Given the description of an element on the screen output the (x, y) to click on. 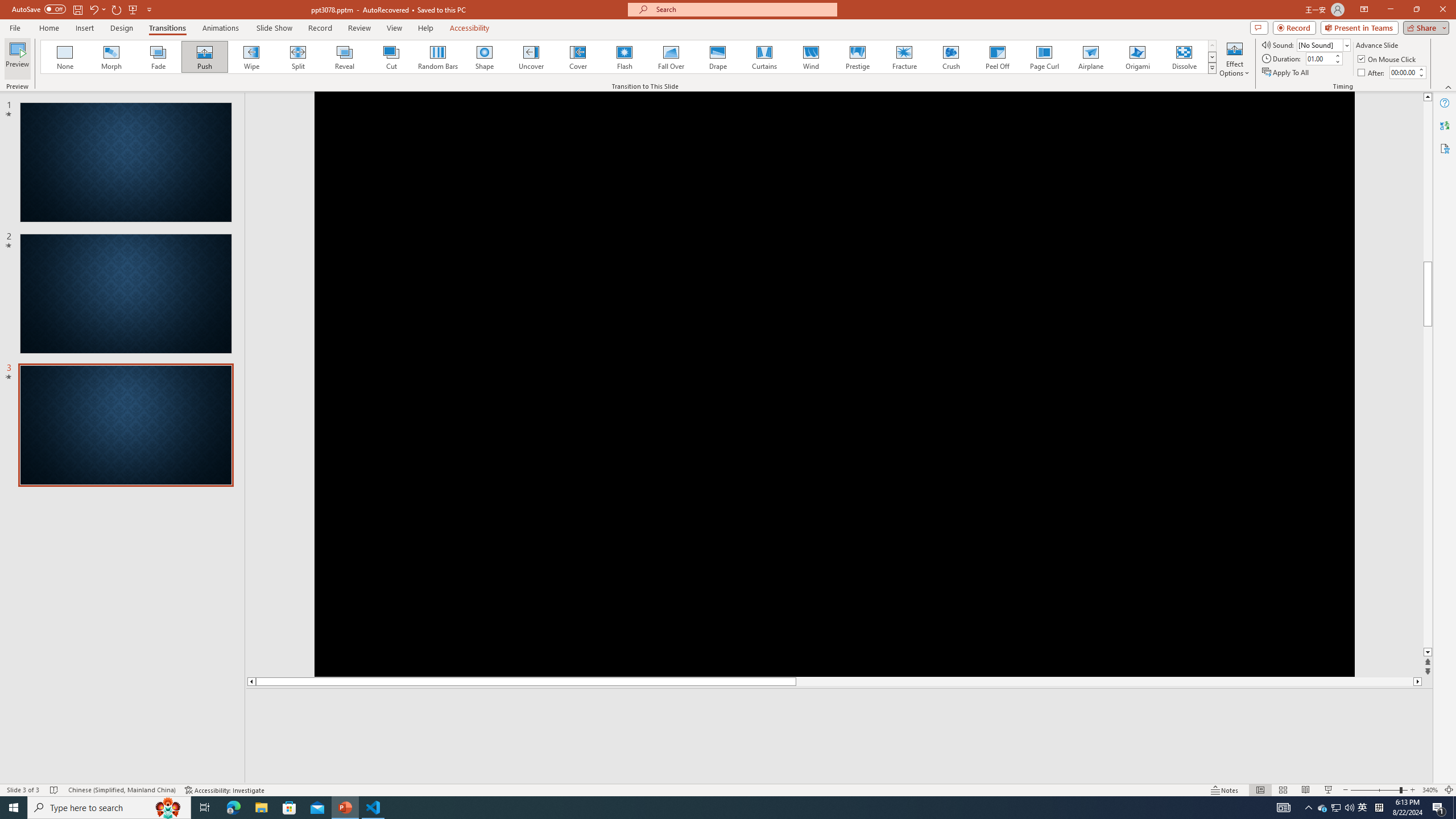
Split (298, 56)
Effect Options (1234, 58)
Content Placeholder (1338, 289)
None (65, 56)
Shape (484, 56)
Drape (717, 56)
